Given the description of an element on the screen output the (x, y) to click on. 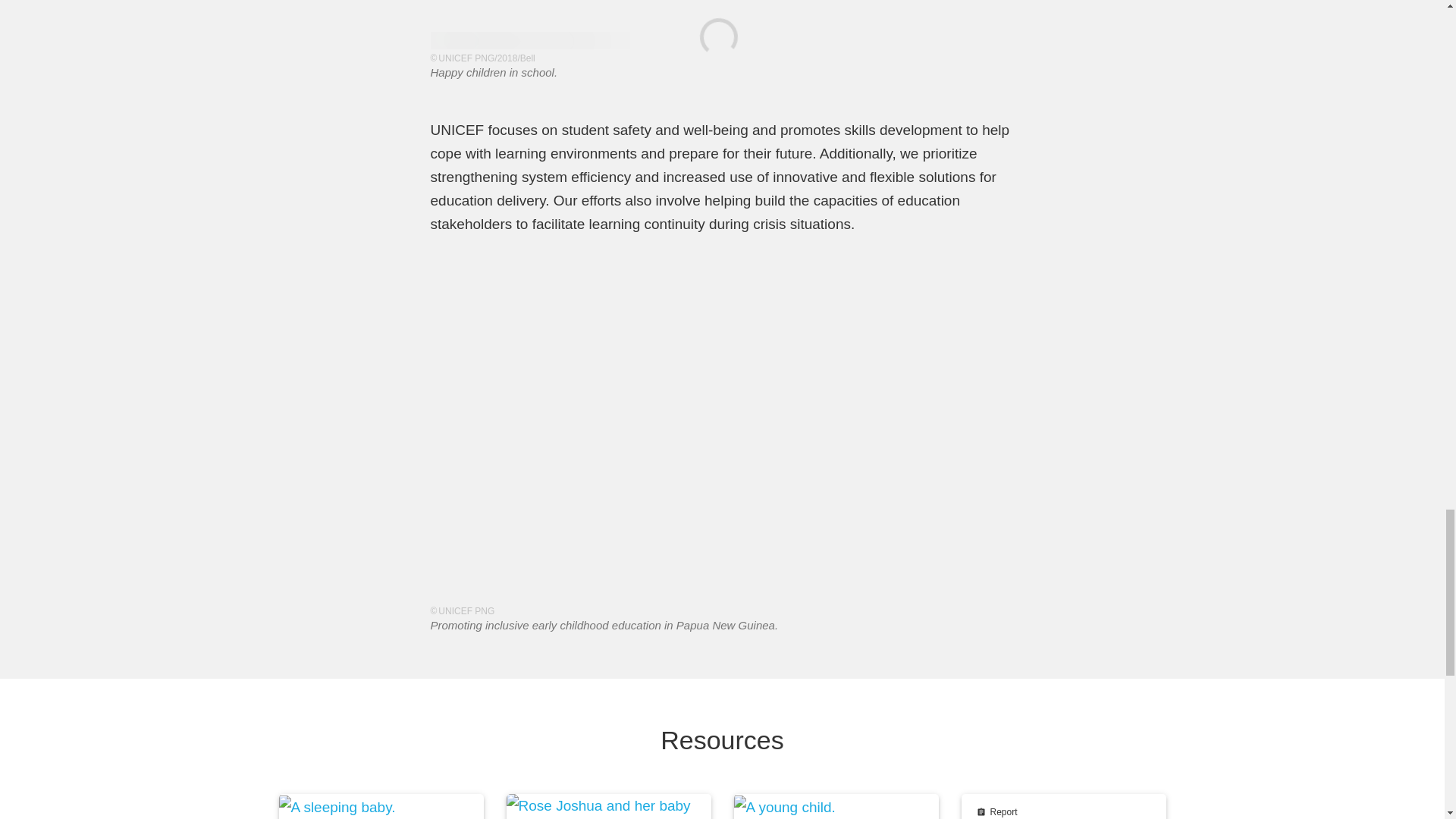
Integrated Public Health Emergency Mini-Handbook (608, 806)
Delivering essential nutrition services through community (836, 806)
Child Protection - Birth Registration Factsheet (381, 806)
Justice for Children (1063, 806)
